Given the description of an element on the screen output the (x, y) to click on. 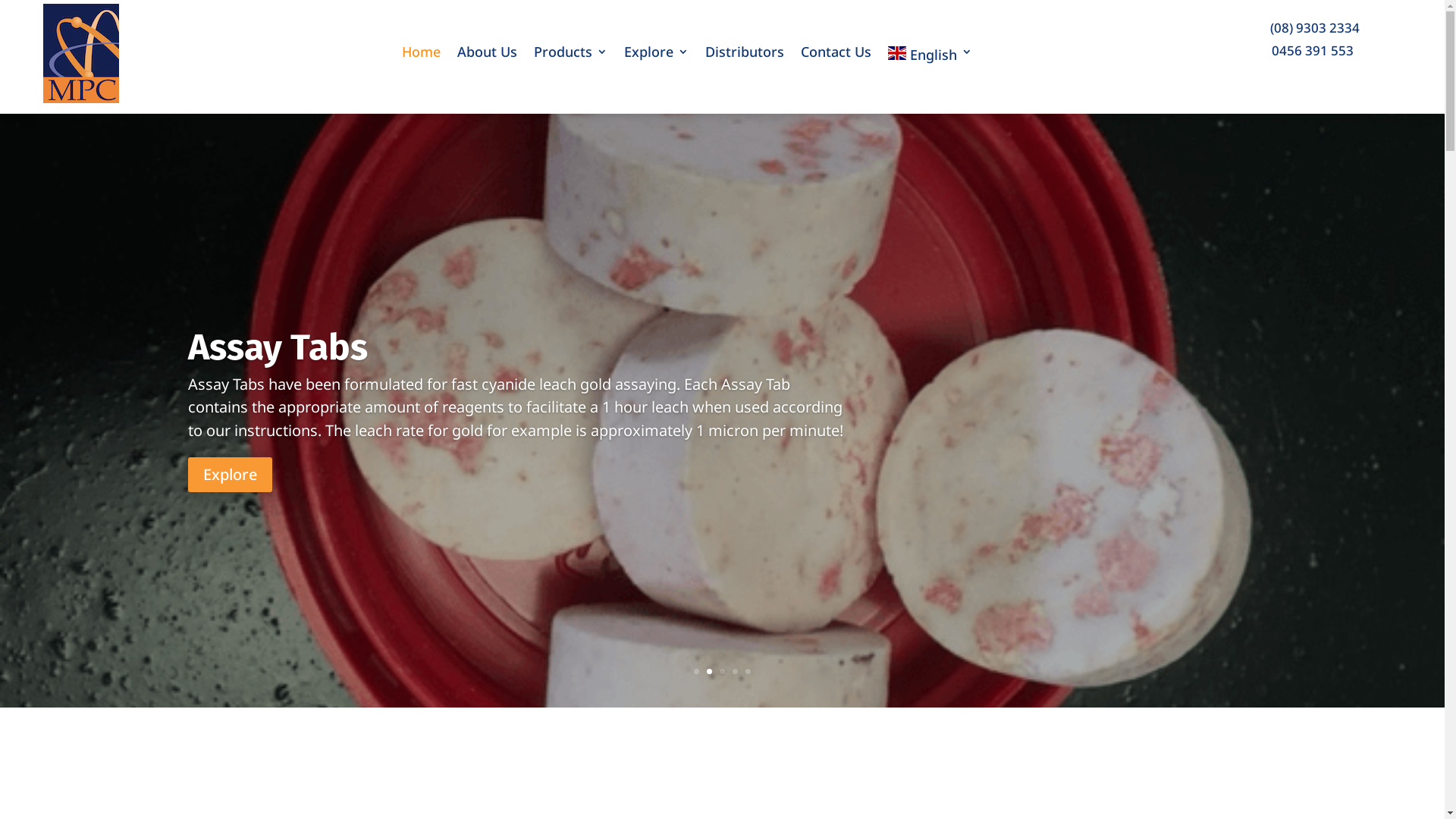
Contact Us Element type: text (835, 55)
English Element type: text (930, 55)
3 Element type: text (721, 671)
Explore Element type: text (656, 55)
Explore Element type: text (230, 482)
2 Element type: text (709, 671)
(08) 9303 2334     0456 391 553      Element type: text (1318, 38)
Products Element type: text (570, 55)
Assay Tabs Element type: text (277, 356)
MPC Logo Element type: hover (81, 52)
5 Element type: text (747, 671)
Distributors Element type: text (744, 55)
1 Element type: text (696, 671)
About Us Element type: text (487, 55)
Home Element type: text (420, 55)
4 Element type: text (734, 671)
